Given the description of an element on the screen output the (x, y) to click on. 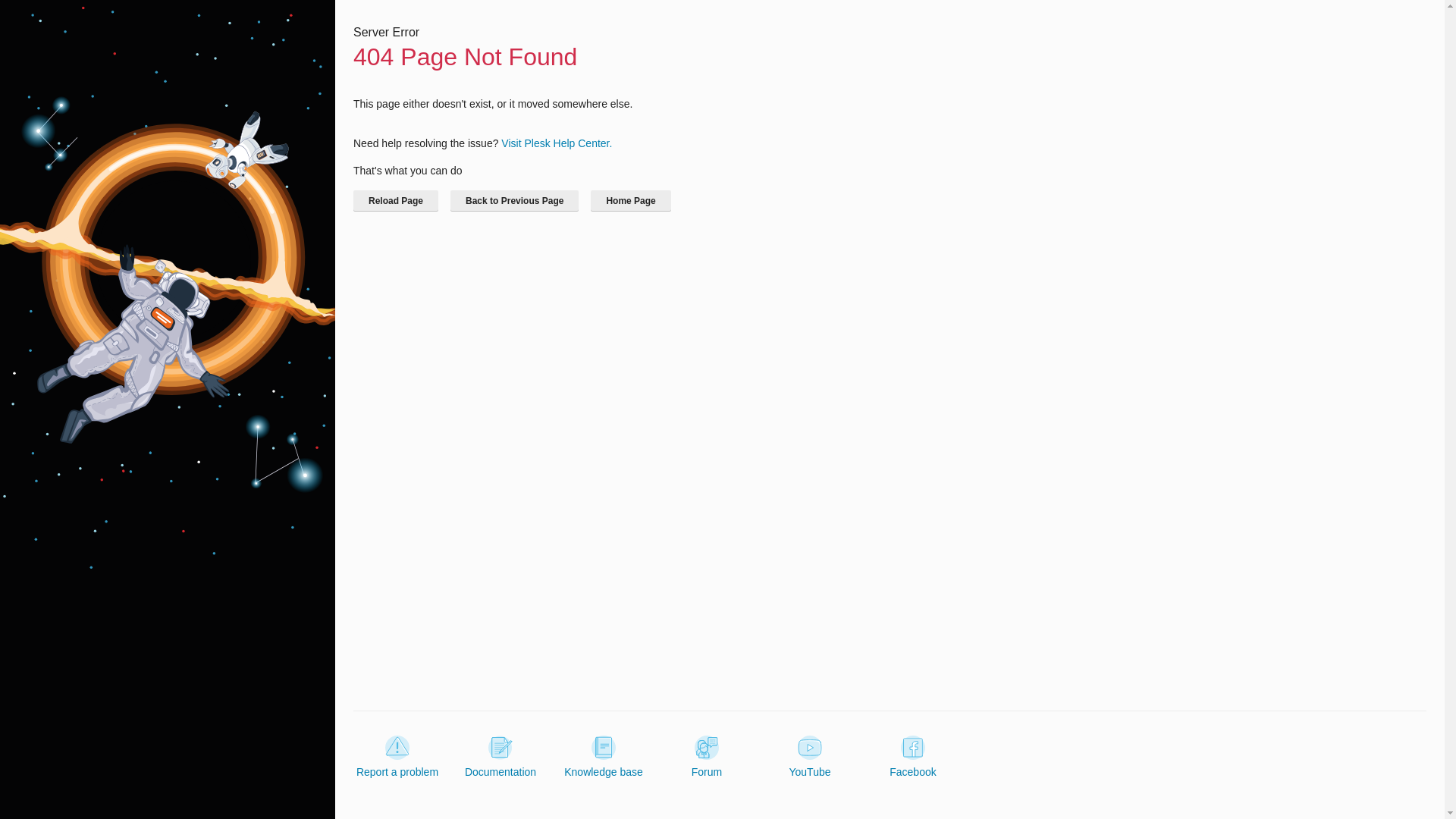
Facebook (912, 757)
Back to Previous Page (513, 200)
Report a problem (397, 757)
Forum (706, 757)
Knowledge base (603, 757)
Documentation (500, 757)
YouTube (809, 757)
Reload Page (395, 200)
Home Page (630, 200)
Visit Plesk Help Center. (555, 143)
